Given the description of an element on the screen output the (x, y) to click on. 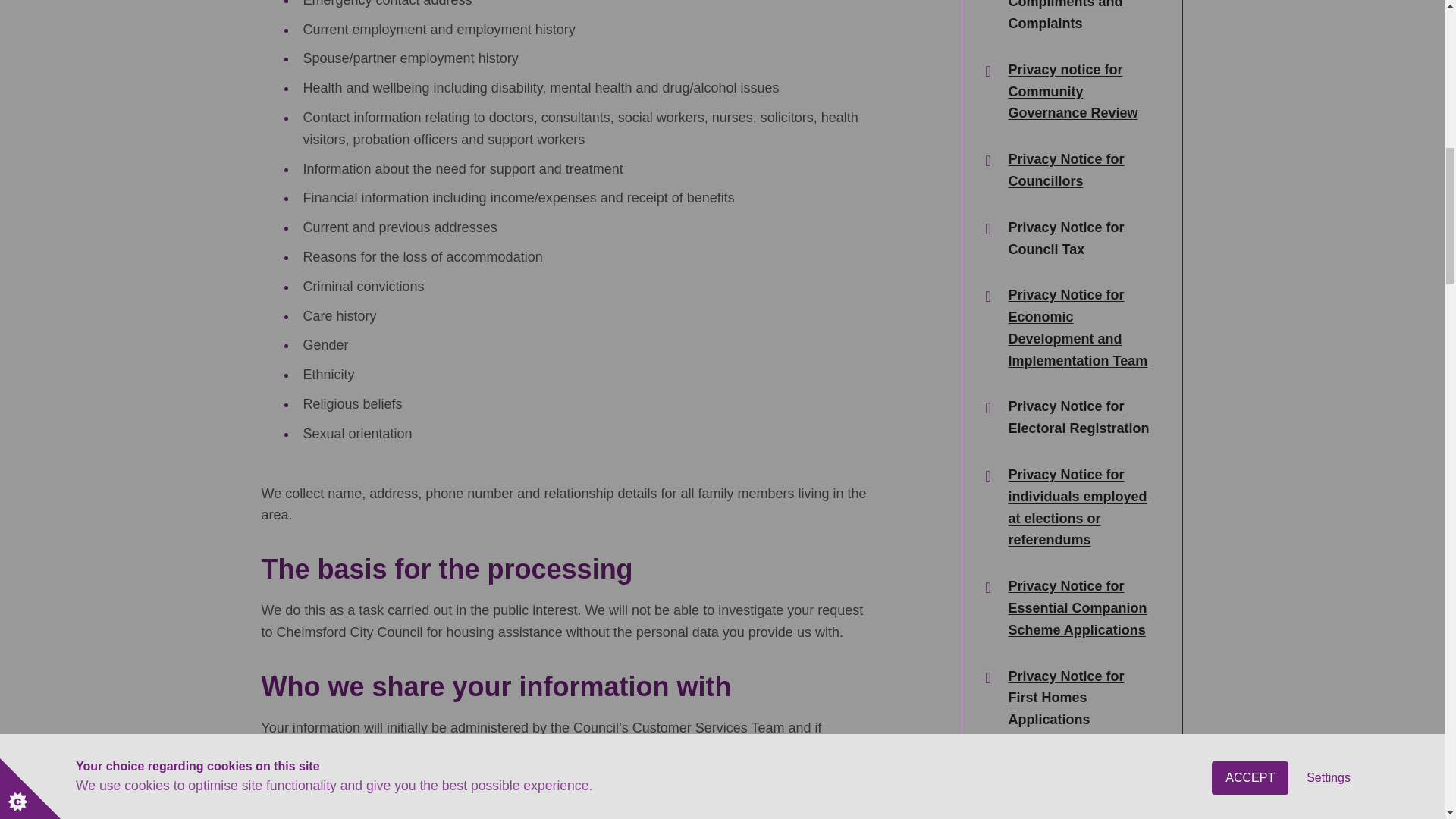
Privacy Notice for Comments, Compliments and Complaints (1081, 17)
Privacy Notice for Council Tax (1081, 239)
Privacy Notice for Electoral Registration (1081, 417)
Privacy Notice for First Homes Applications (1081, 698)
Privacy Notice for Gym and Fitness (1081, 777)
ACCEPT (1249, 24)
Privacy Notice for Essential Companion Scheme Applications (1081, 607)
Privacy notice for Community Governance Review (1081, 91)
